Given the description of an element on the screen output the (x, y) to click on. 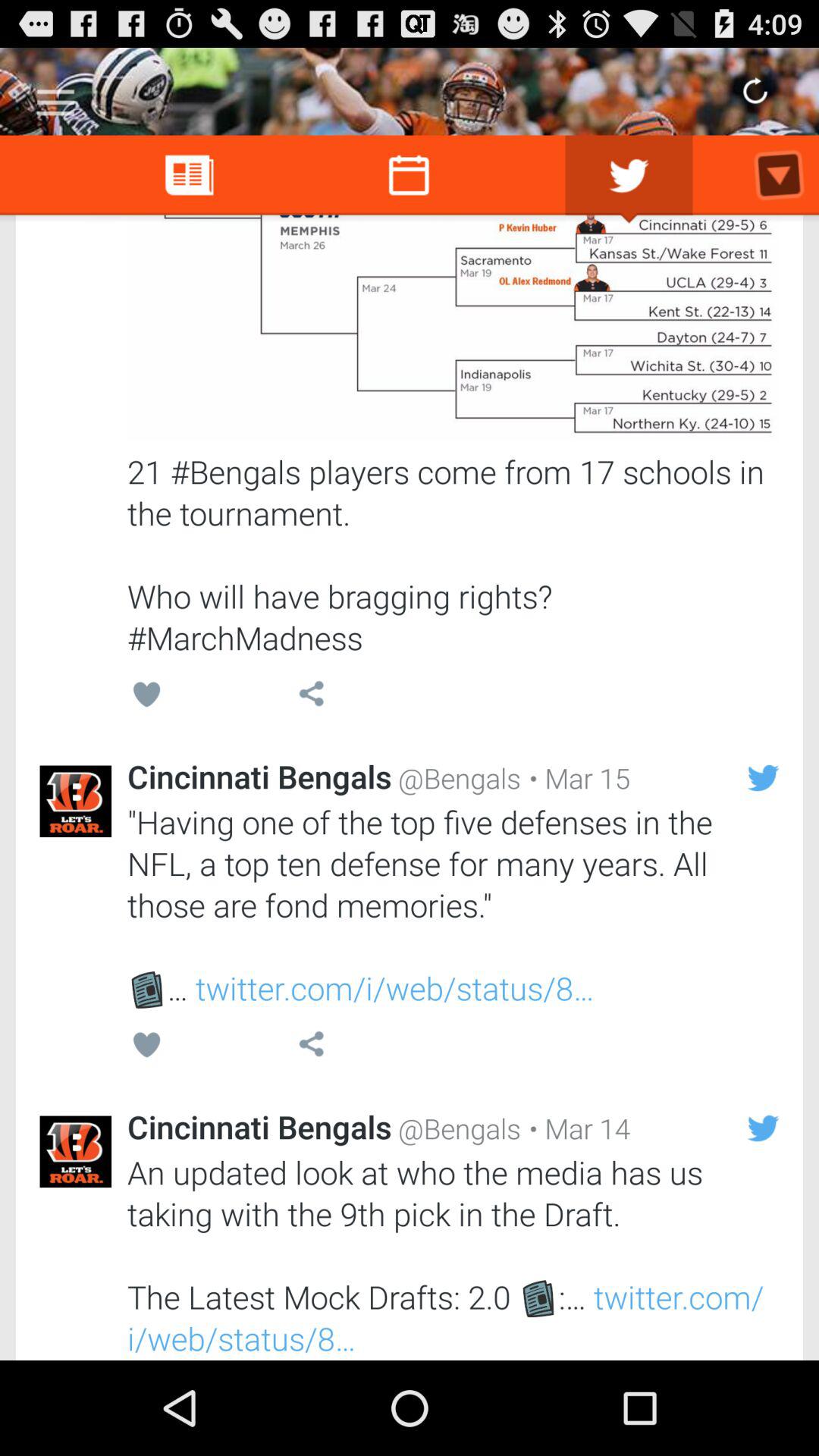
tap item next to @bengals icon (575, 1128)
